Given the description of an element on the screen output the (x, y) to click on. 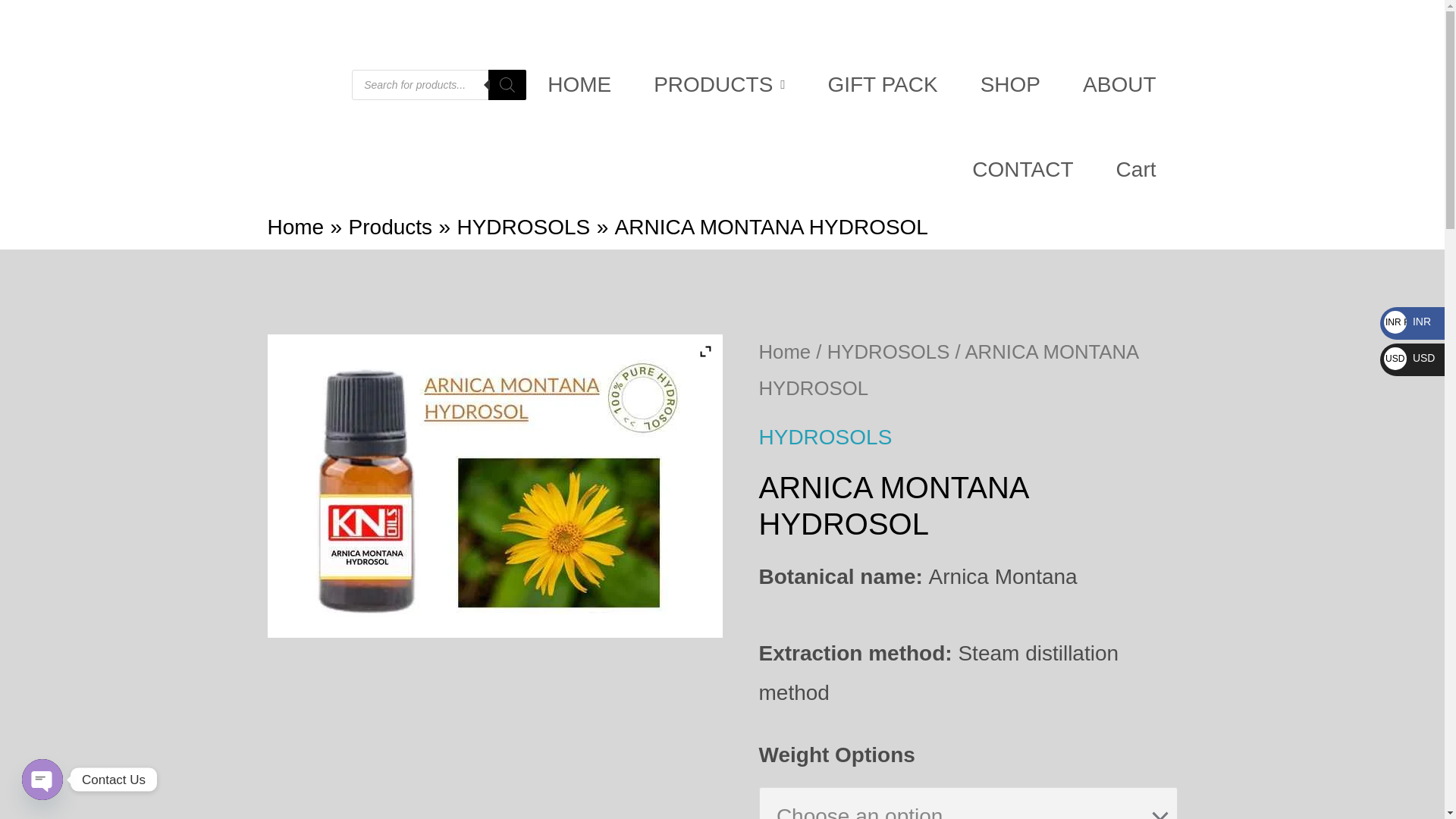
HOME (578, 84)
CONTACT (1022, 169)
HYDROSOLS (888, 351)
Cart (1135, 169)
HYDROSOLS (523, 227)
HYDROSOLS (824, 436)
Home (784, 351)
PRODUCTS (718, 84)
Products (390, 227)
